Given the description of an element on the screen output the (x, y) to click on. 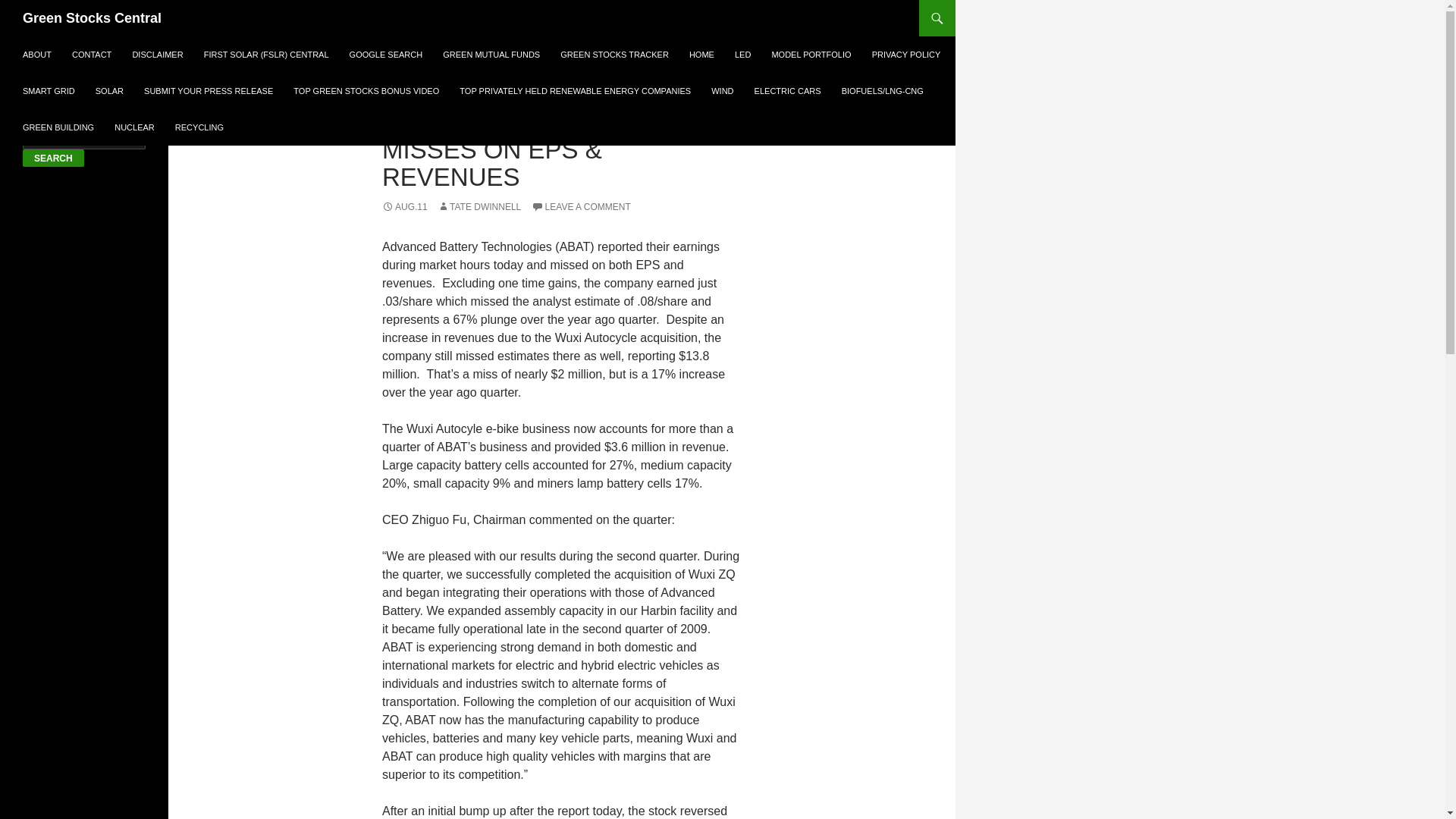
TATE DWINNELL (479, 206)
MODEL PORTFOLIO (810, 54)
LITHIUM BATTERIES (542, 95)
WIND (721, 90)
GREEN BUILDING (58, 126)
ABOUT (37, 54)
GREEN STOCKS TRACKER (614, 54)
SUBMIT YOUR PRESS RELEASE (208, 90)
RECYCLING (198, 126)
PRIVACY POLICY (906, 54)
HOME (701, 54)
LED (742, 54)
Green Stocks Central (92, 18)
AUG.11 (404, 206)
GREEN MUTUAL FUNDS (490, 54)
